Given the description of an element on the screen output the (x, y) to click on. 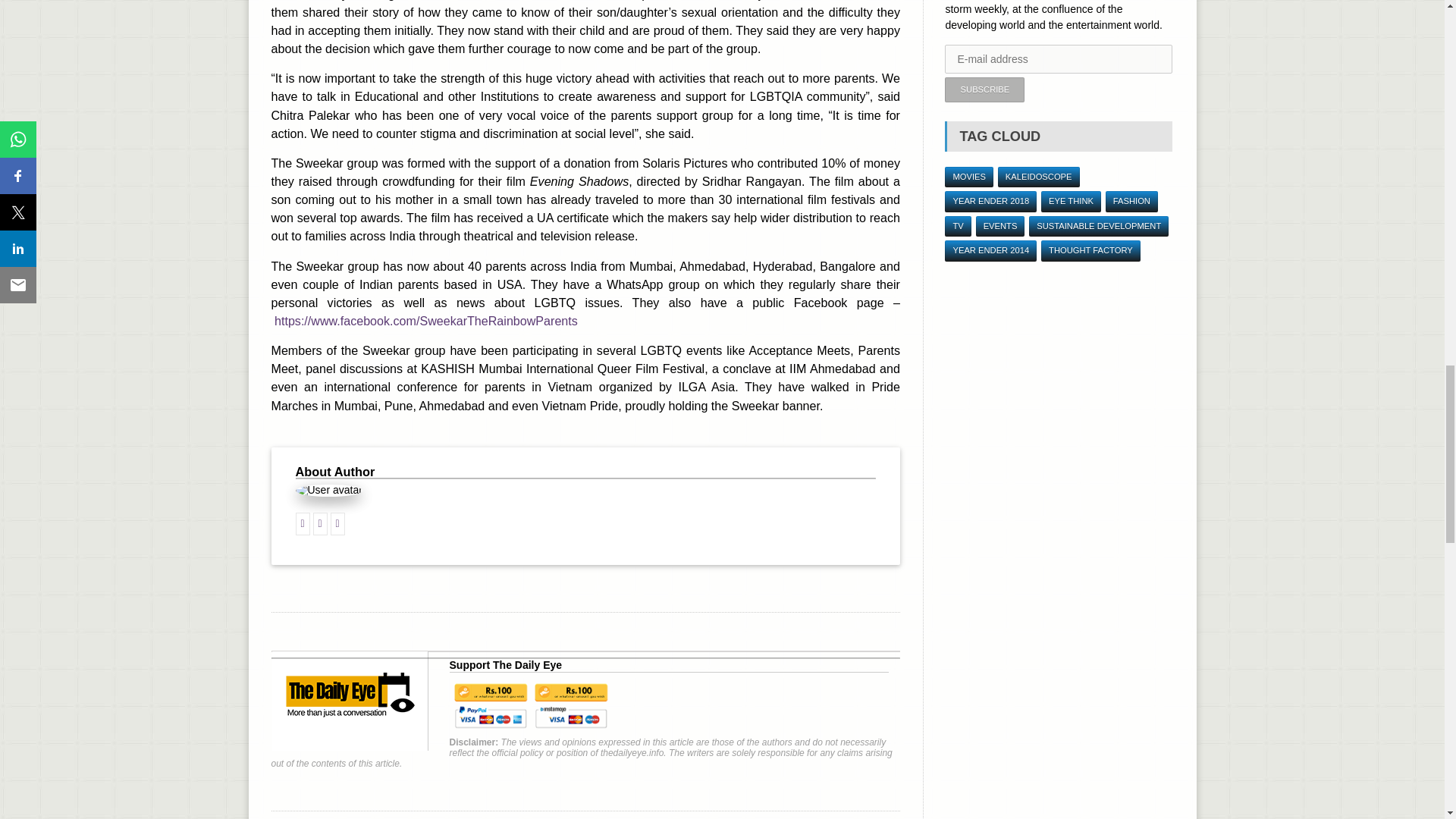
Subscribe (984, 89)
